Given the description of an element on the screen output the (x, y) to click on. 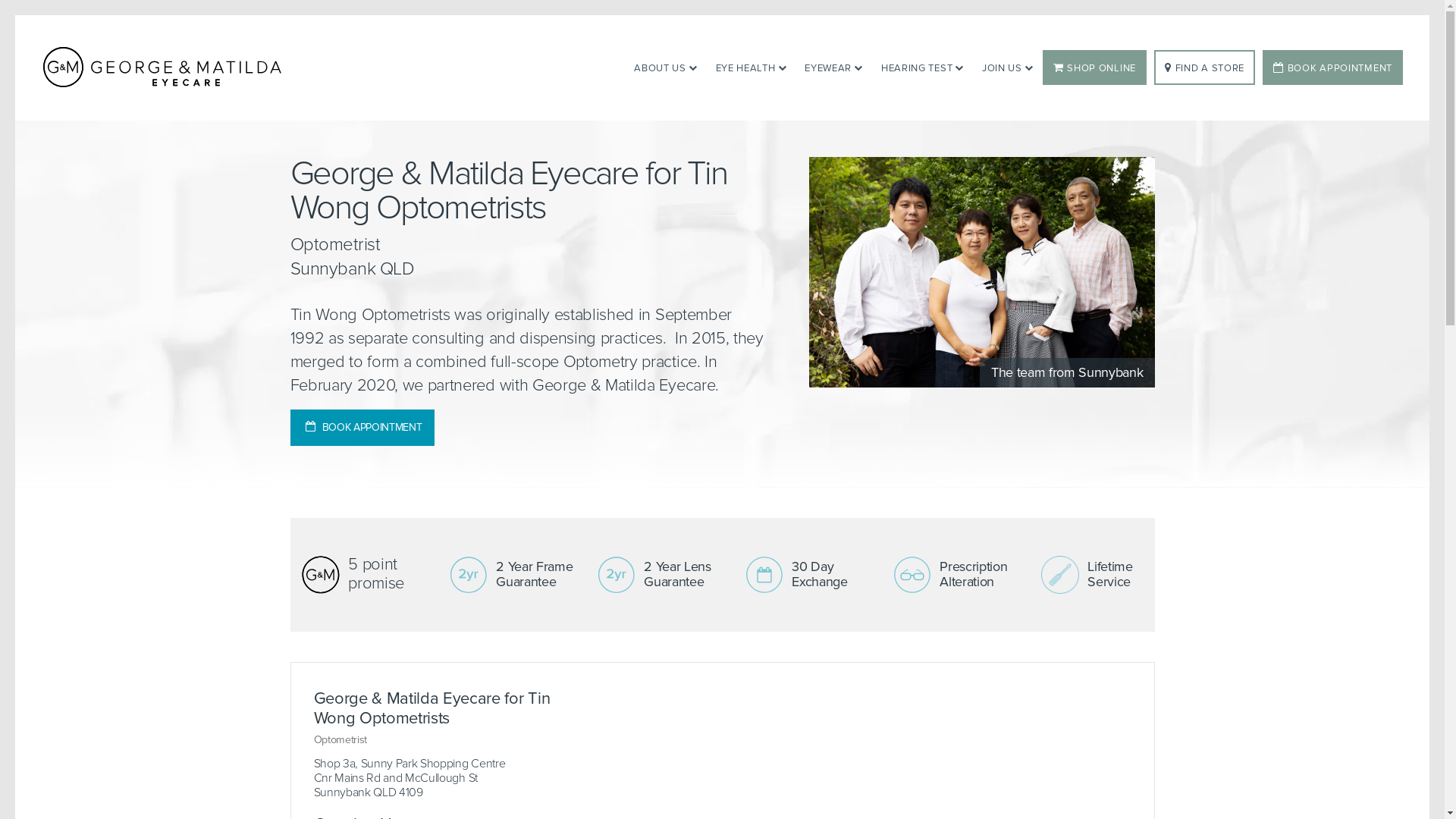
BOOK APPOINTMENT Element type: text (361, 427)
BOOK APPOINTMENT Element type: text (1332, 67)
Prescription Alteration Element type: text (955, 574)
ABOUT US Element type: text (665, 67)
30 Day Exchange Element type: text (806, 574)
George & Matilda Eyecare Element type: text (164, 66)
EYEWEAR Element type: text (833, 67)
JOIN US Element type: text (1007, 67)
SHOP ONLINE Element type: text (1094, 67)
HEARING TEST Element type: text (922, 67)
2 Year Lens Guarantee Element type: text (659, 574)
5 point promise Element type: text (363, 574)
Lifetime Service Element type: text (1102, 574)
EYE HEALTH Element type: text (751, 67)
2 Year Frame Guarantee Element type: text (511, 574)
FIND A STORE Element type: text (1204, 67)
